Given the description of an element on the screen output the (x, y) to click on. 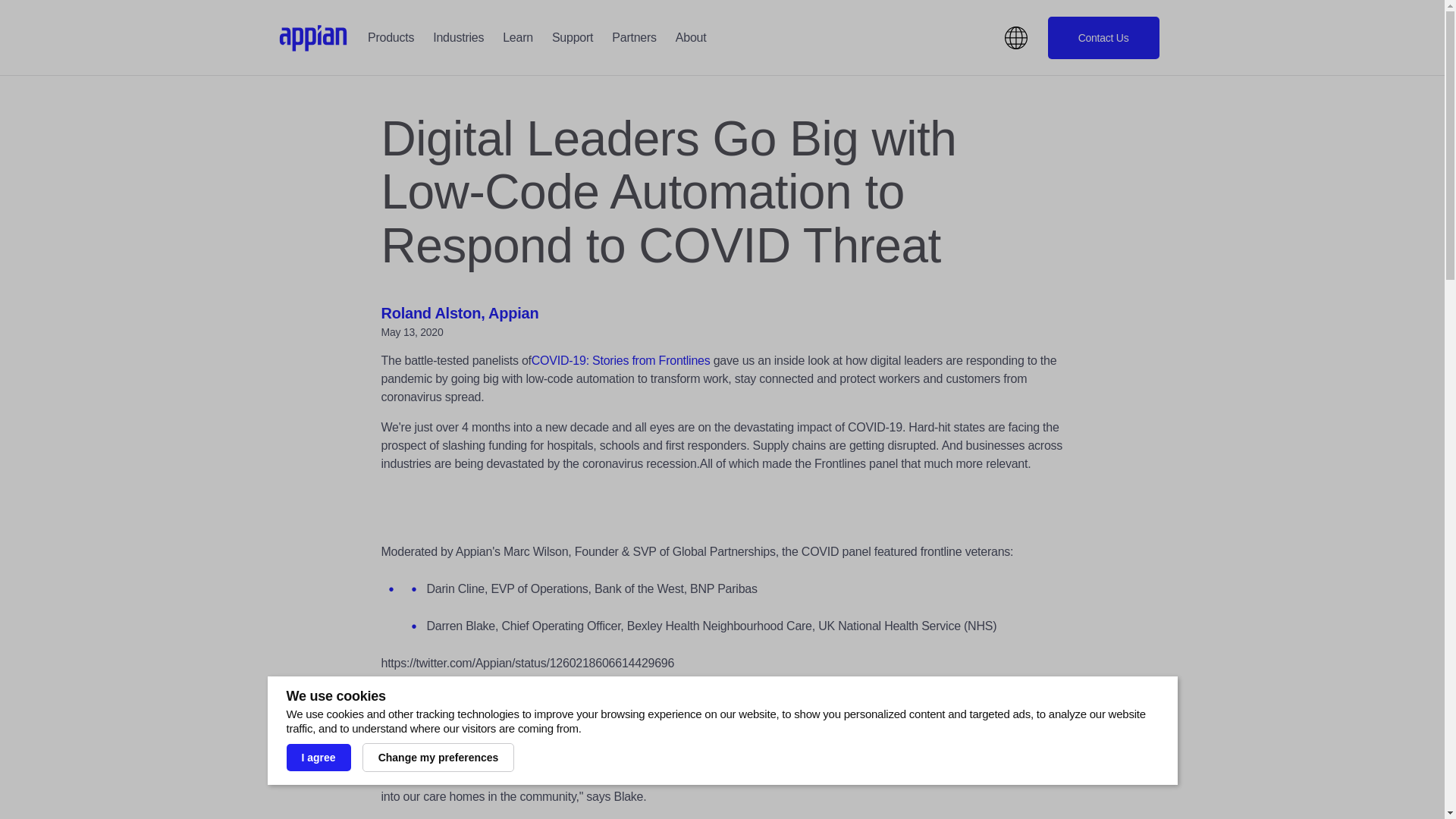
Appian (313, 37)
Products (391, 37)
I agree (318, 757)
Change my preferences (438, 757)
